Given the description of an element on the screen output the (x, y) to click on. 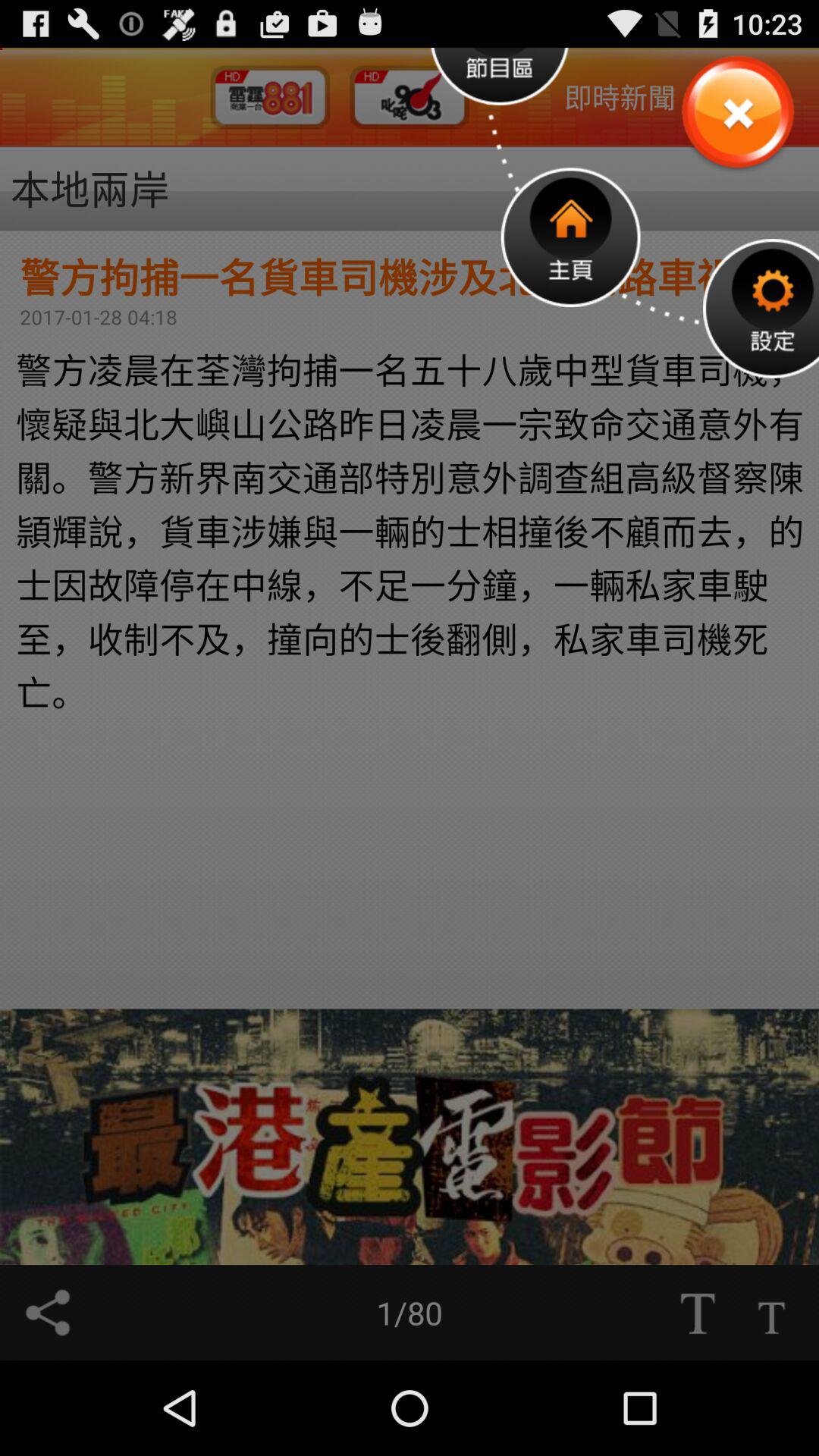
select the home button (570, 237)
